Given the description of an element on the screen output the (x, y) to click on. 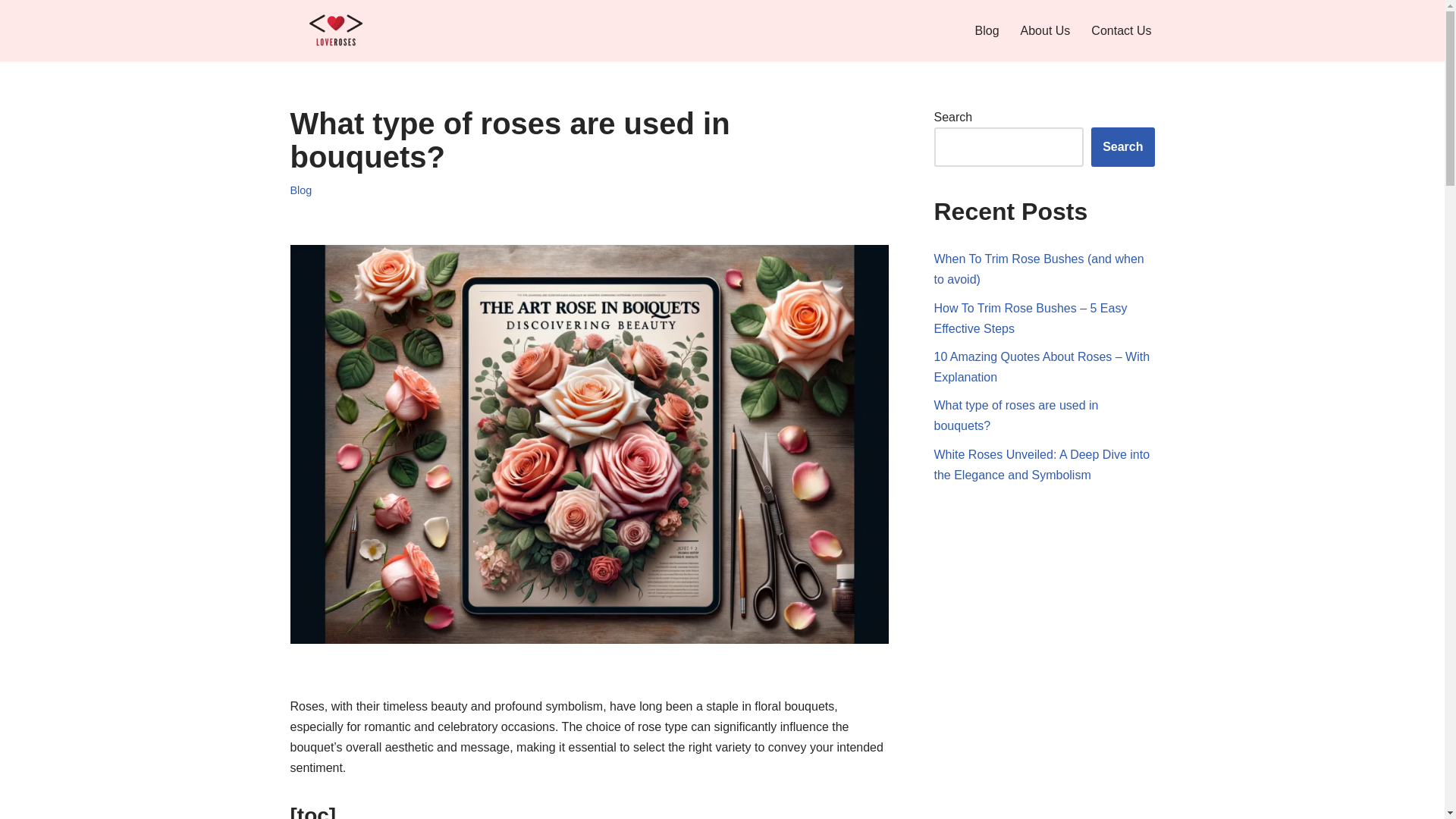
Contact Us (1120, 30)
Blog (986, 30)
Blog (300, 190)
What type of roses are used in bouquets? (1016, 415)
Skip to content (11, 31)
Search (1122, 147)
About Us (1045, 30)
